Given the description of an element on the screen output the (x, y) to click on. 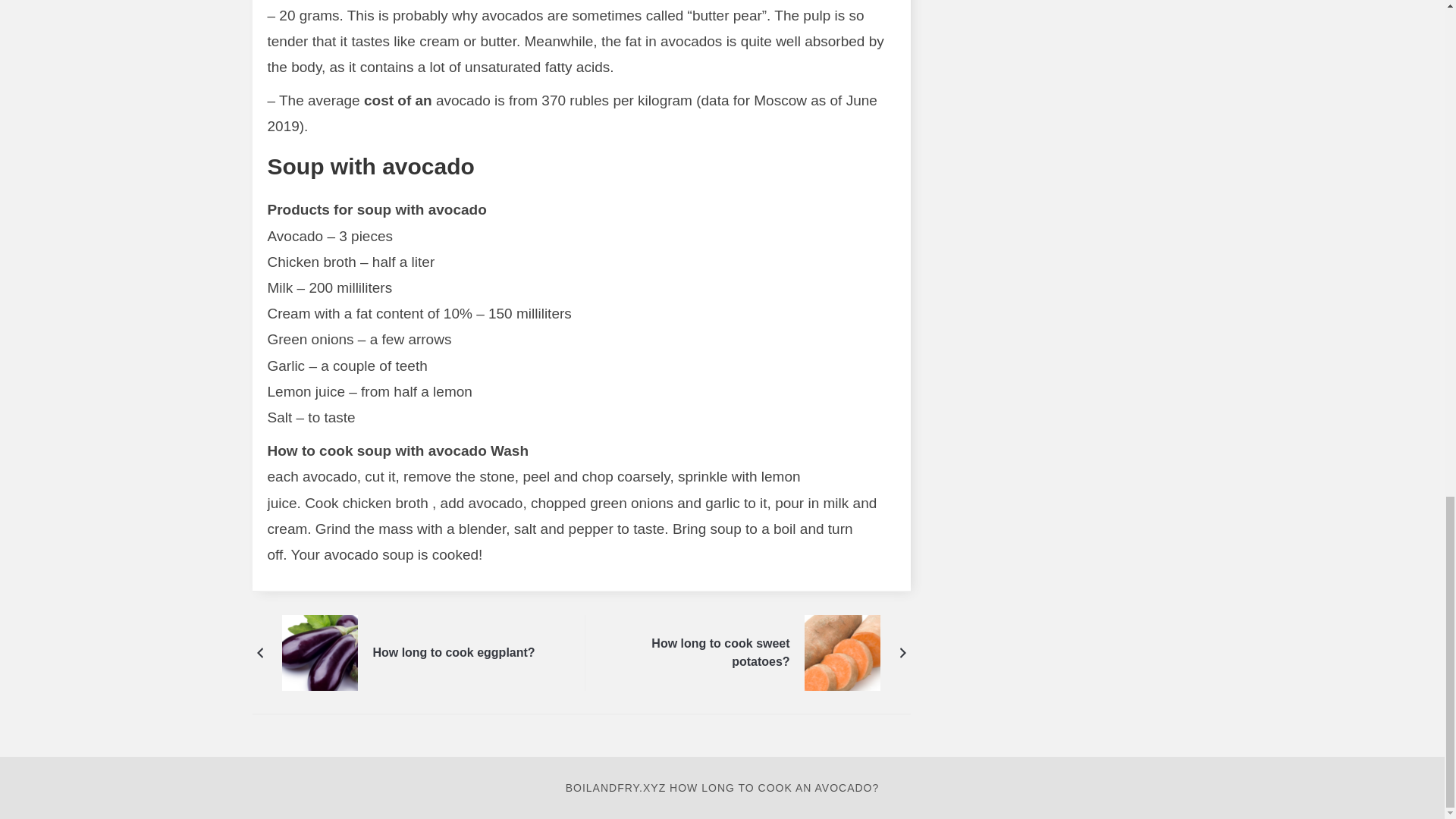
How long to cook sweet potatoes? (708, 652)
How long to cook eggplant? (319, 651)
How long to cook eggplant? (453, 652)
How long to cook sweet potatoes? (842, 651)
